Given the description of an element on the screen output the (x, y) to click on. 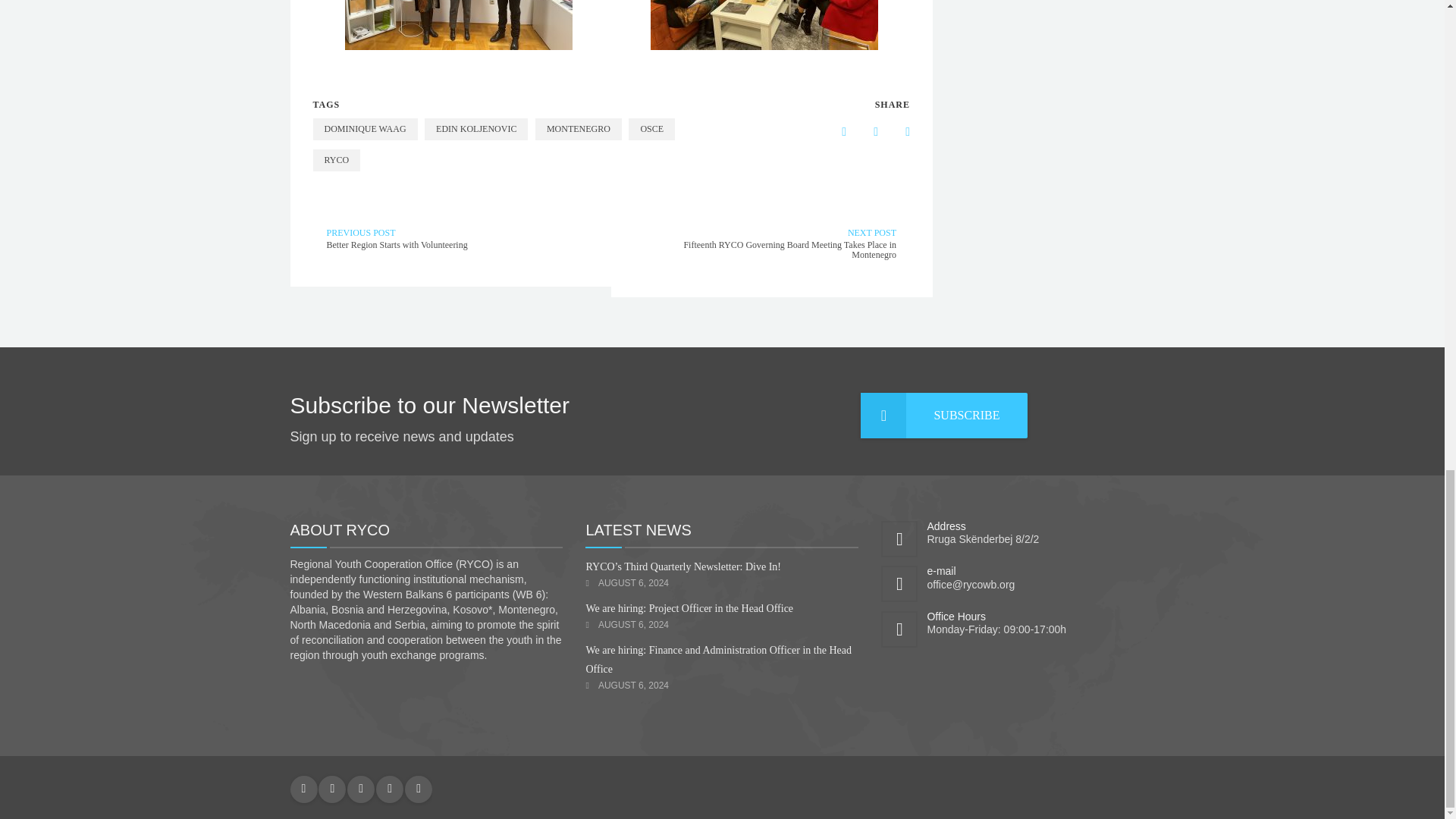
Share on LinkedIn (863, 131)
Tweet (896, 131)
Share on Facebook (831, 131)
